Given the description of an element on the screen output the (x, y) to click on. 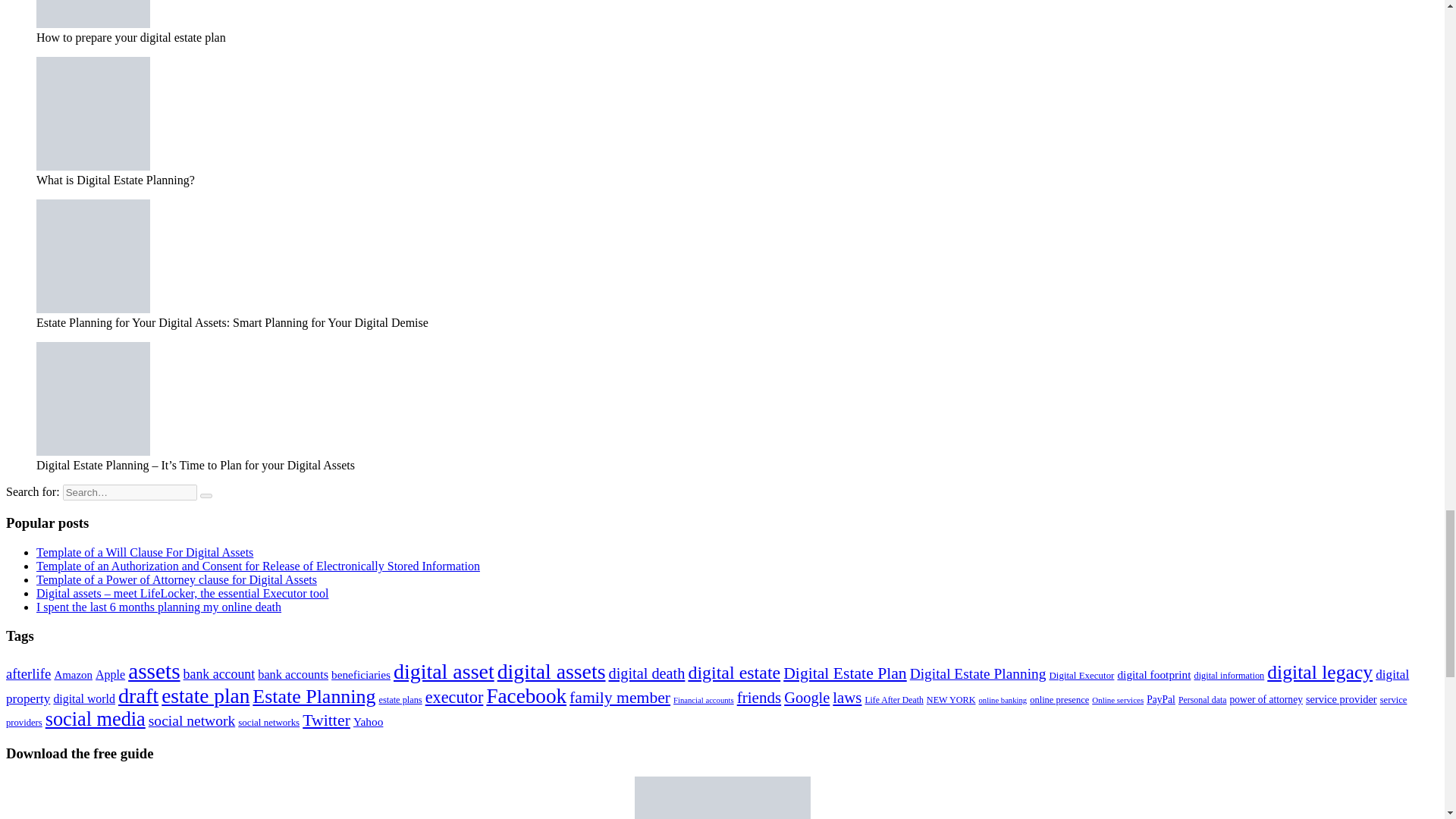
Search for: (129, 492)
I spent the last 6 months planning my online death (158, 606)
Template of a Power of Attorney clause for Digital Assets (176, 579)
Template of a Will Clause For Digital Assets (144, 552)
